Given the description of an element on the screen output the (x, y) to click on. 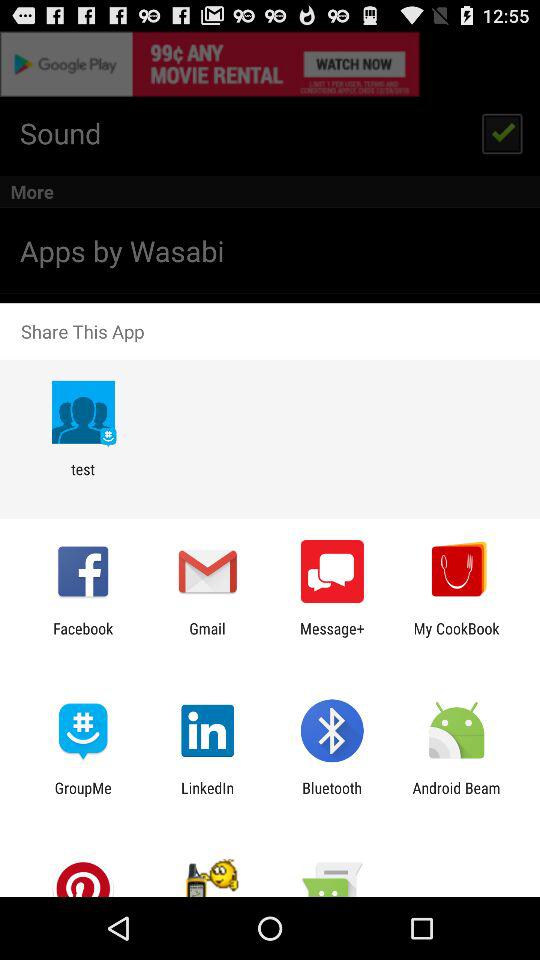
click item next to the message+ (456, 637)
